Given the description of an element on the screen output the (x, y) to click on. 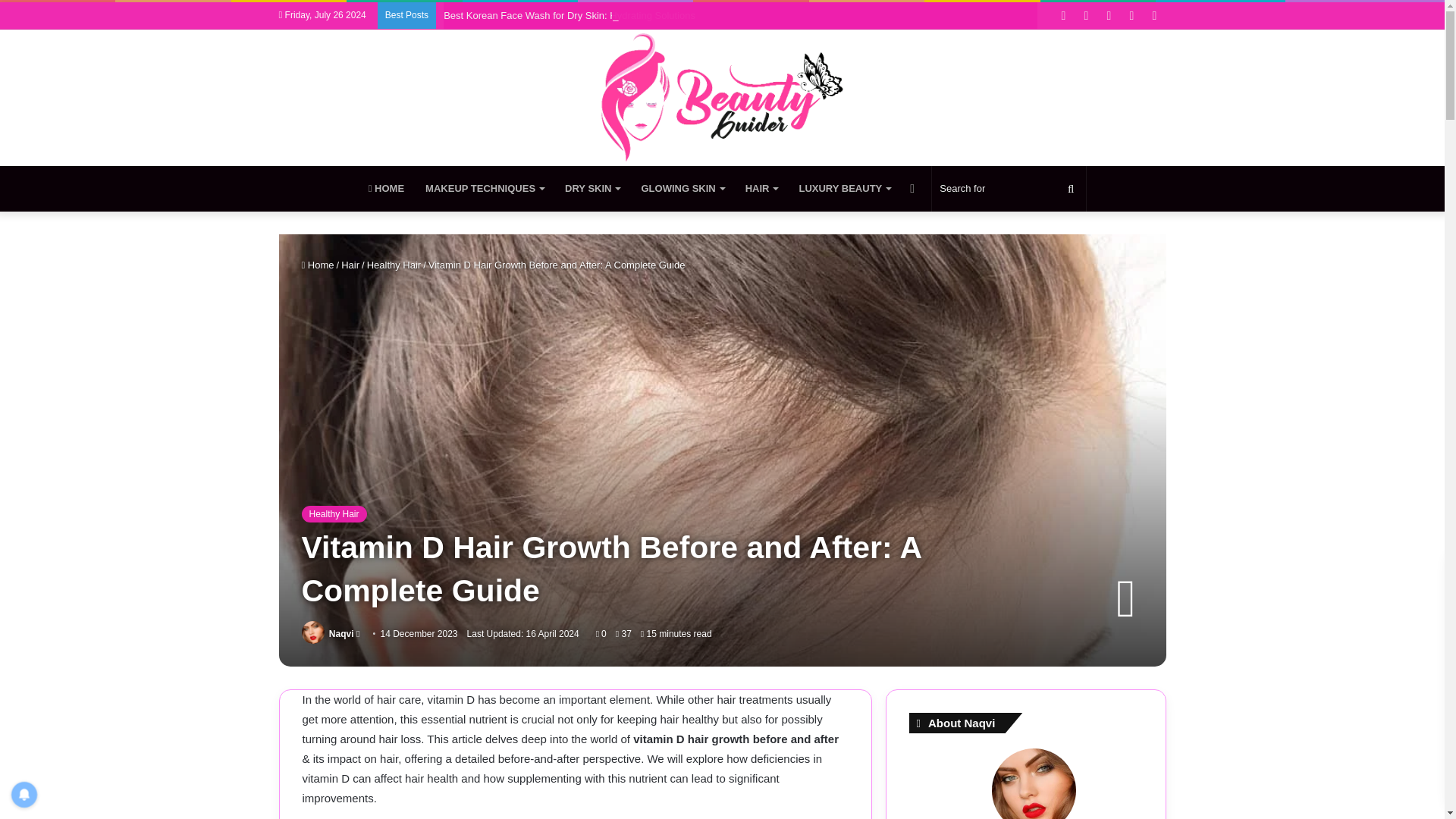
Search for (1008, 188)
Best Korean Face Wash for Dry Skin: Hydrating Solutions (569, 15)
Naqvi (341, 633)
MAKEUP TECHNIQUES (484, 188)
DRY SKIN (592, 188)
GLOWING SKIN (681, 188)
BeautyGuider (722, 97)
HOME (386, 188)
